Given the description of an element on the screen output the (x, y) to click on. 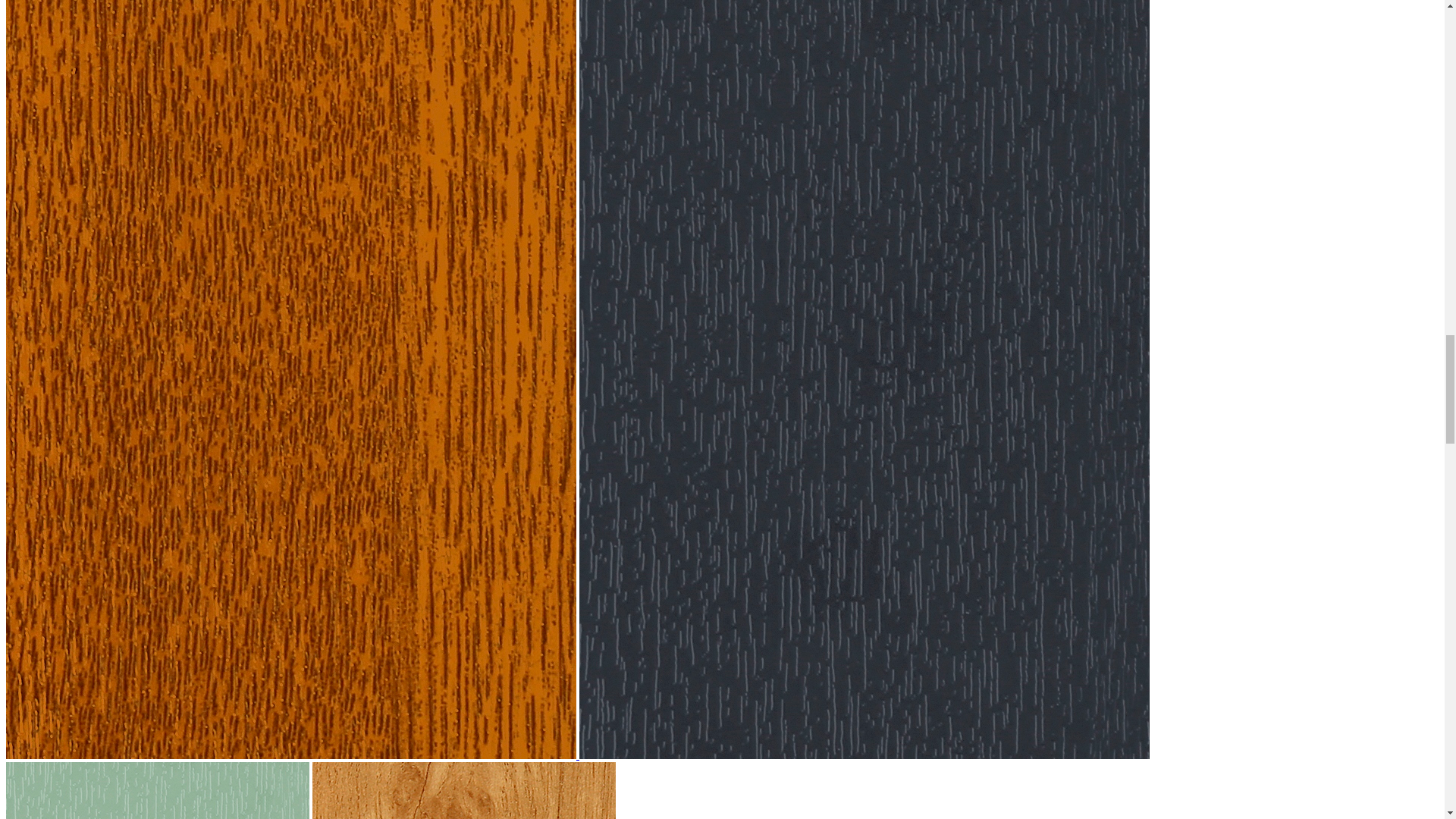
Grey (864, 754)
Golden Oak (292, 754)
